Given the description of an element on the screen output the (x, y) to click on. 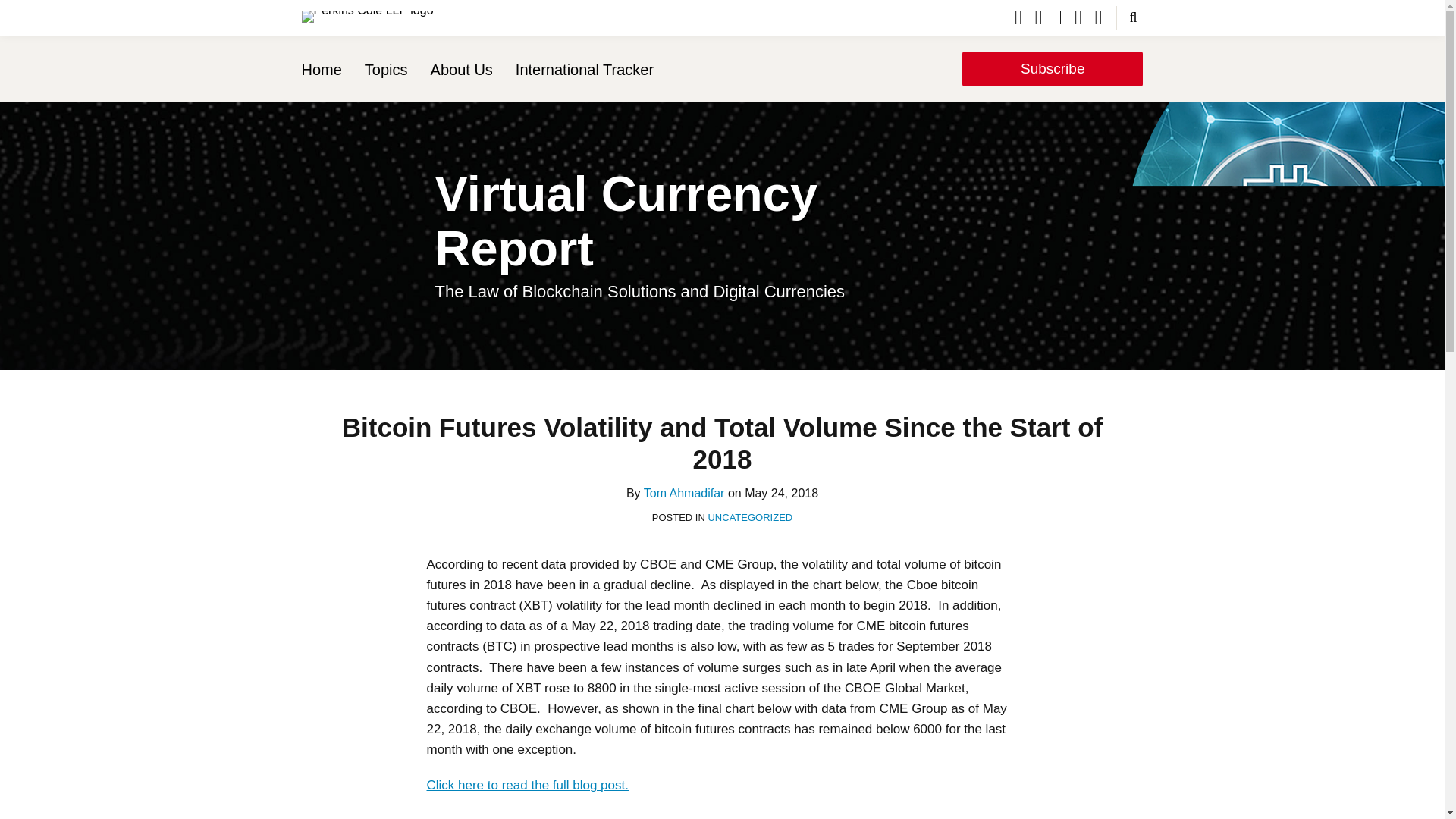
International Tracker (584, 69)
Home (321, 69)
Virtual Currency Report (626, 221)
Subscribe (1052, 68)
Tom Ahmadifar (684, 492)
About Us (461, 69)
Click here to read the full blog post. (526, 785)
Topics (386, 69)
UNCATEGORIZED (749, 517)
